Given the description of an element on the screen output the (x, y) to click on. 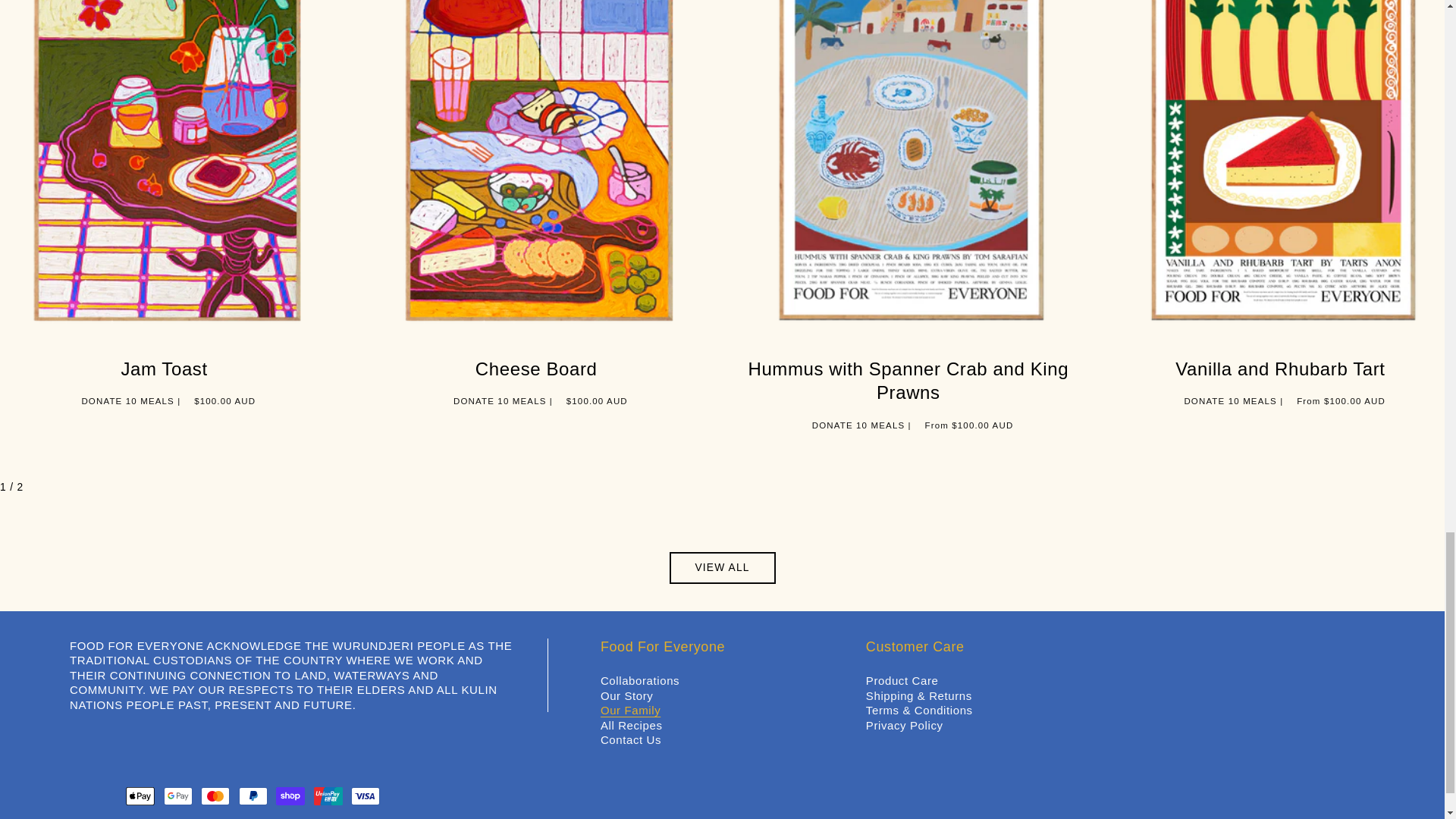
Cheese Board (536, 368)
Jam Toast (164, 368)
Hummus with Spanner Crab and King Prawns (907, 380)
